Given the description of an element on the screen output the (x, y) to click on. 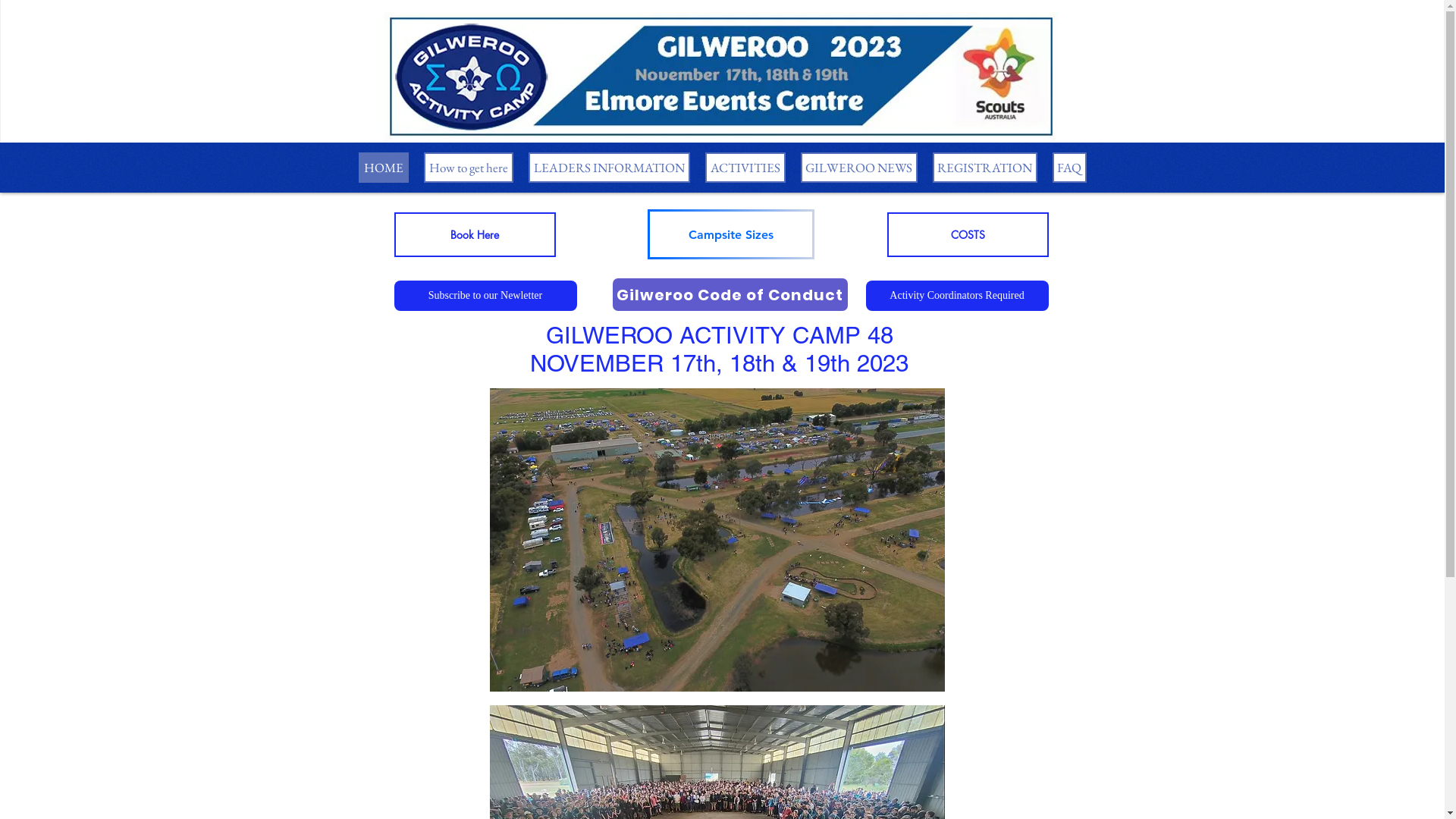
ACTIVITIES Element type: text (745, 167)
REGISTRATION Element type: text (984, 167)
HOME Element type: text (382, 167)
COSTS Element type: text (967, 234)
How to get here Element type: text (467, 167)
Gilweroo Code of Conduct Element type: text (729, 294)
LEADERS INFORMATION Element type: text (608, 167)
Subscribe to our Newletter Element type: text (485, 295)
Campsite Sizes Element type: text (730, 234)
Activity Coordinators Required Element type: text (957, 295)
FAQ Element type: text (1069, 167)
Book Here Element type: text (474, 234)
GILWEROO NEWS Element type: text (858, 167)
